Given the description of an element on the screen output the (x, y) to click on. 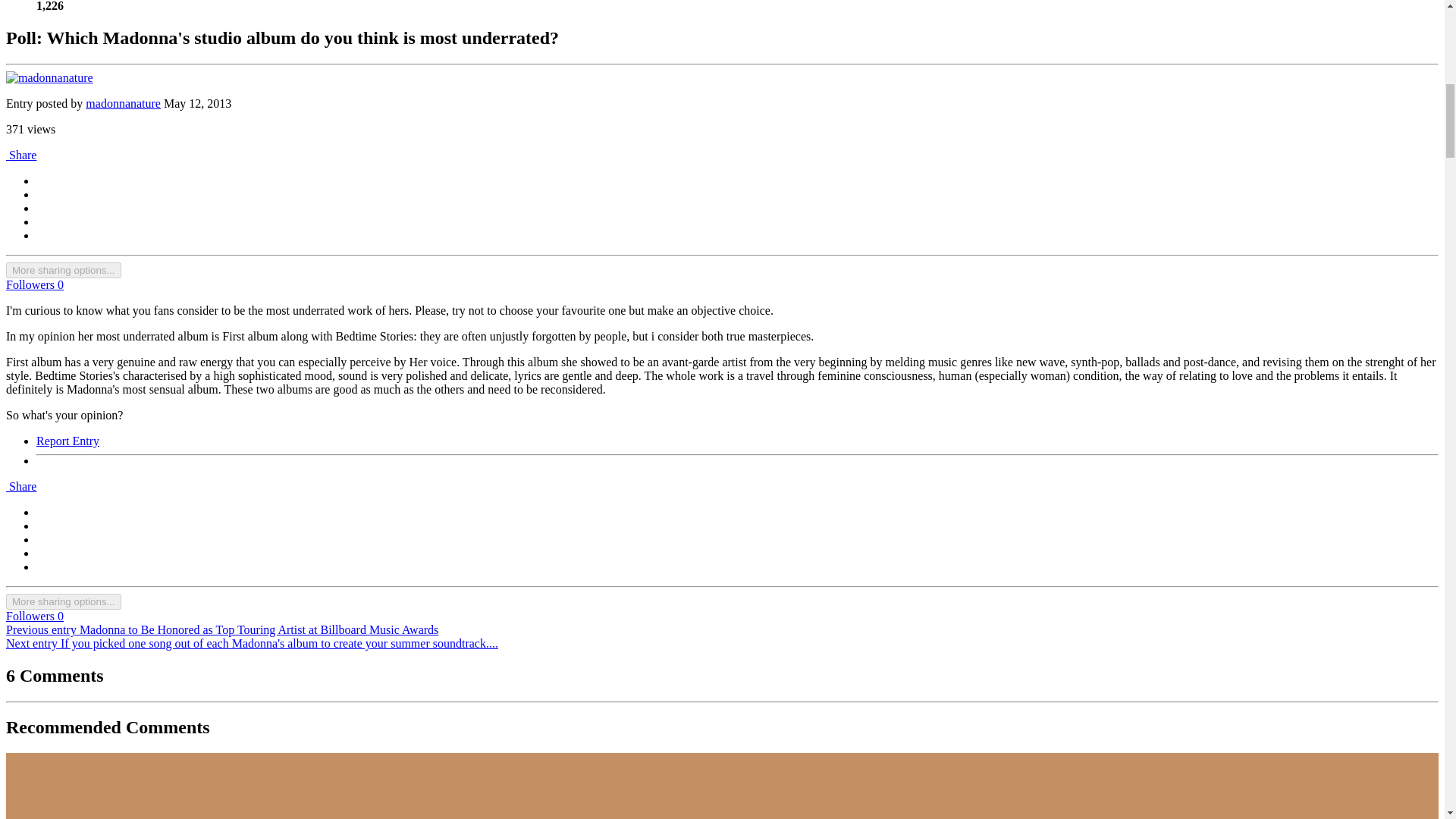
Go to madonnanature's profile (49, 77)
Sign in to follow this (34, 284)
 Share (20, 154)
Go to madonnanature's profile (122, 103)
Report Entry (67, 440)
madonnanature (122, 103)
